Given the description of an element on the screen output the (x, y) to click on. 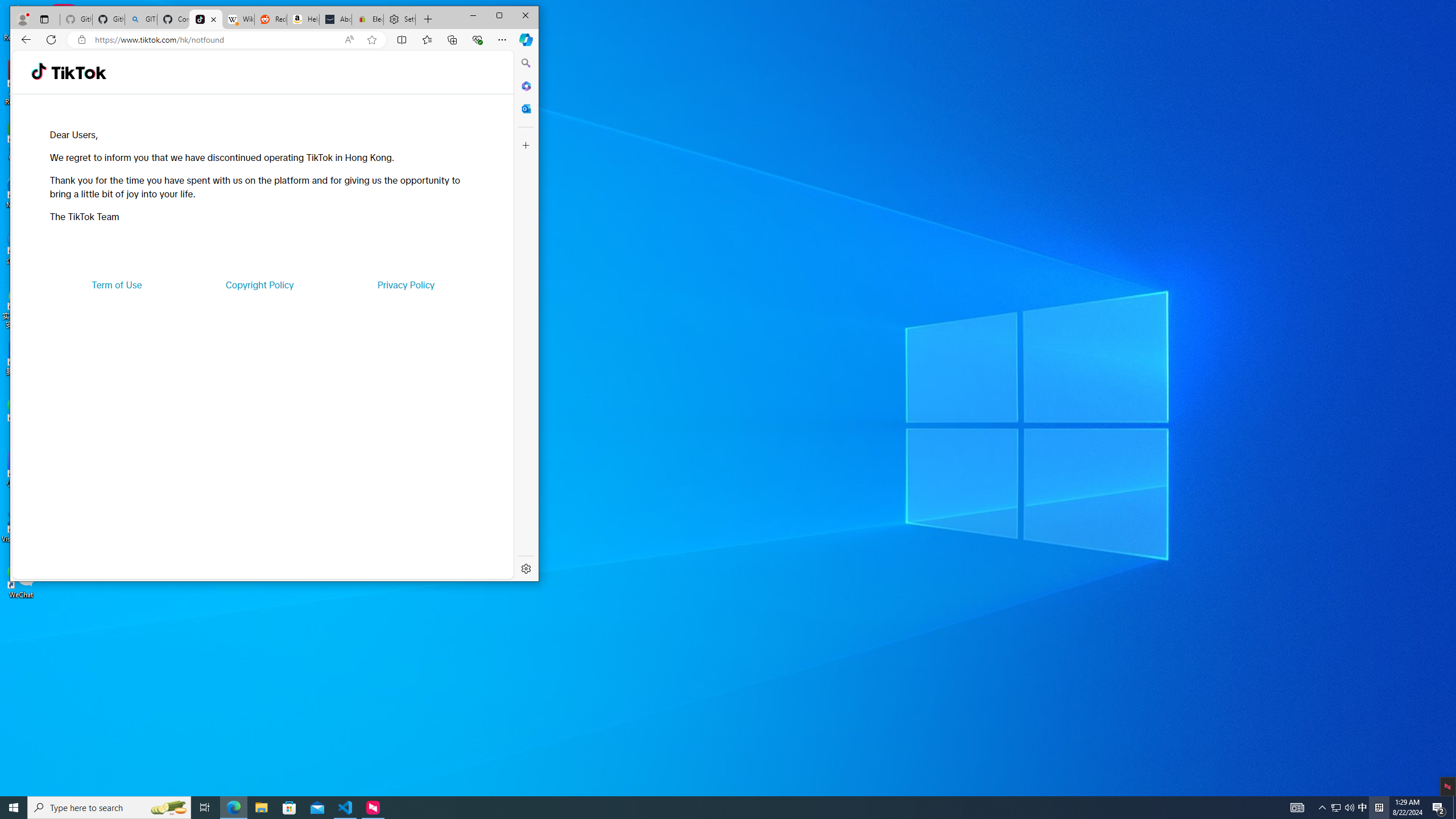
File Explorer (261, 807)
Microsoft Edge - 1 running window (233, 807)
